Given the description of an element on the screen output the (x, y) to click on. 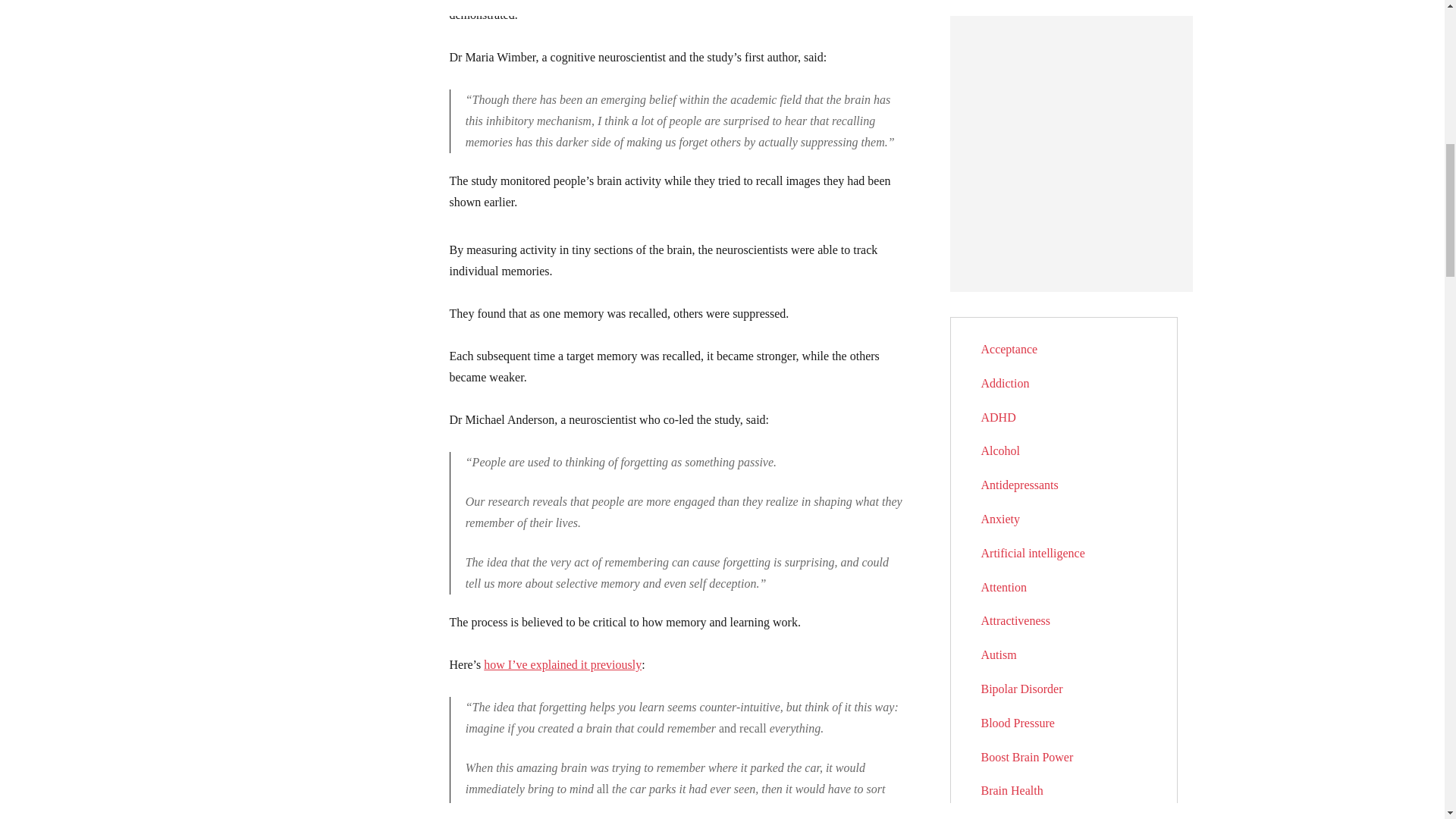
Blood Pressure (1017, 722)
Antidepressants (1019, 484)
Addiction (1005, 382)
Attention (1003, 586)
Artificial intelligence (1032, 553)
Brain Health (1012, 789)
Anxiety (1000, 518)
Alcohol (1000, 450)
ADHD (998, 417)
Boost Brain Power (1027, 757)
Bipolar Disorder (1021, 688)
Advertisement (776, 2)
Attractiveness (1016, 620)
Caffeine (1002, 818)
Acceptance (1009, 349)
